Given the description of an element on the screen output the (x, y) to click on. 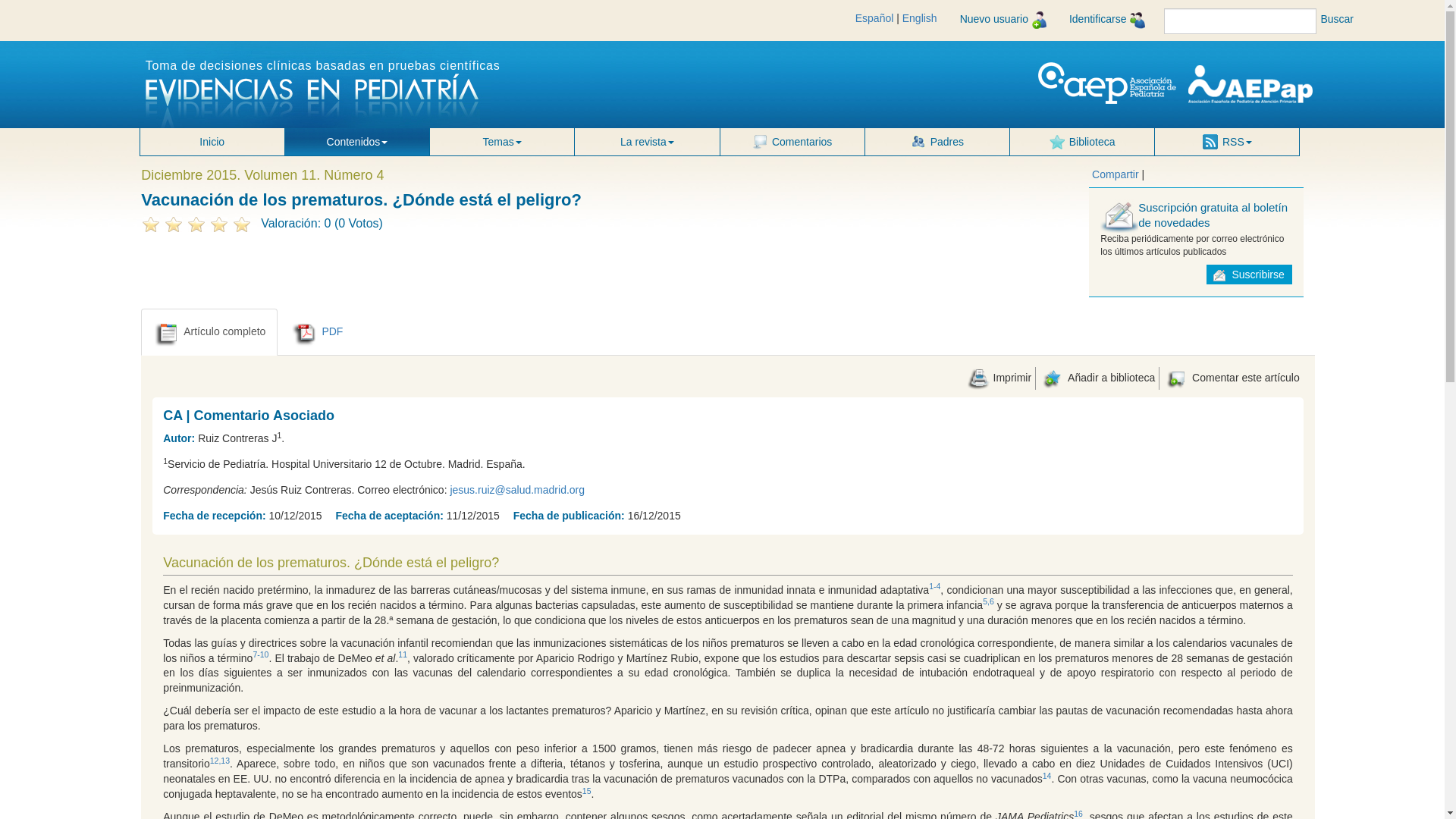
Contenidos (357, 141)
Nuevo usuario (1003, 20)
Identificarse (1107, 20)
Temas (501, 141)
English (919, 18)
Inicio (211, 141)
